Given the description of an element on the screen output the (x, y) to click on. 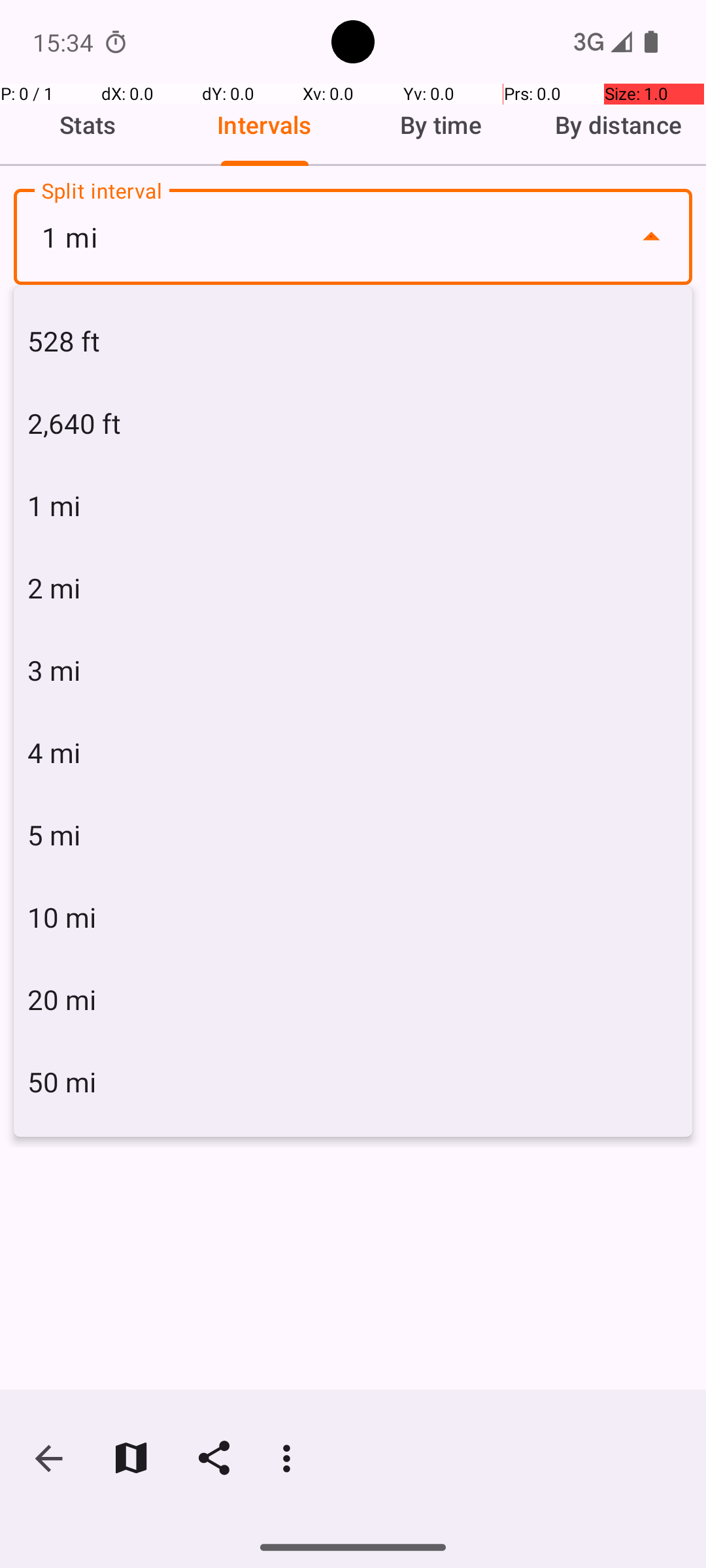
PACE Element type: android.widget.TextView (352, 328)
0:00 min/mi Element type: android.widget.TextView (352, 408)
528 ft Element type: android.widget.CheckedTextView (352, 340)
2,640 ft Element type: android.widget.CheckedTextView (352, 423)
2 mi Element type: android.widget.CheckedTextView (352, 587)
3 mi Element type: android.widget.CheckedTextView (352, 670)
4 mi Element type: android.widget.CheckedTextView (352, 752)
5 mi Element type: android.widget.CheckedTextView (352, 834)
10 mi Element type: android.widget.CheckedTextView (352, 917)
20 mi Element type: android.widget.CheckedTextView (352, 999)
50 mi Element type: android.widget.CheckedTextView (352, 1081)
